Given the description of an element on the screen output the (x, y) to click on. 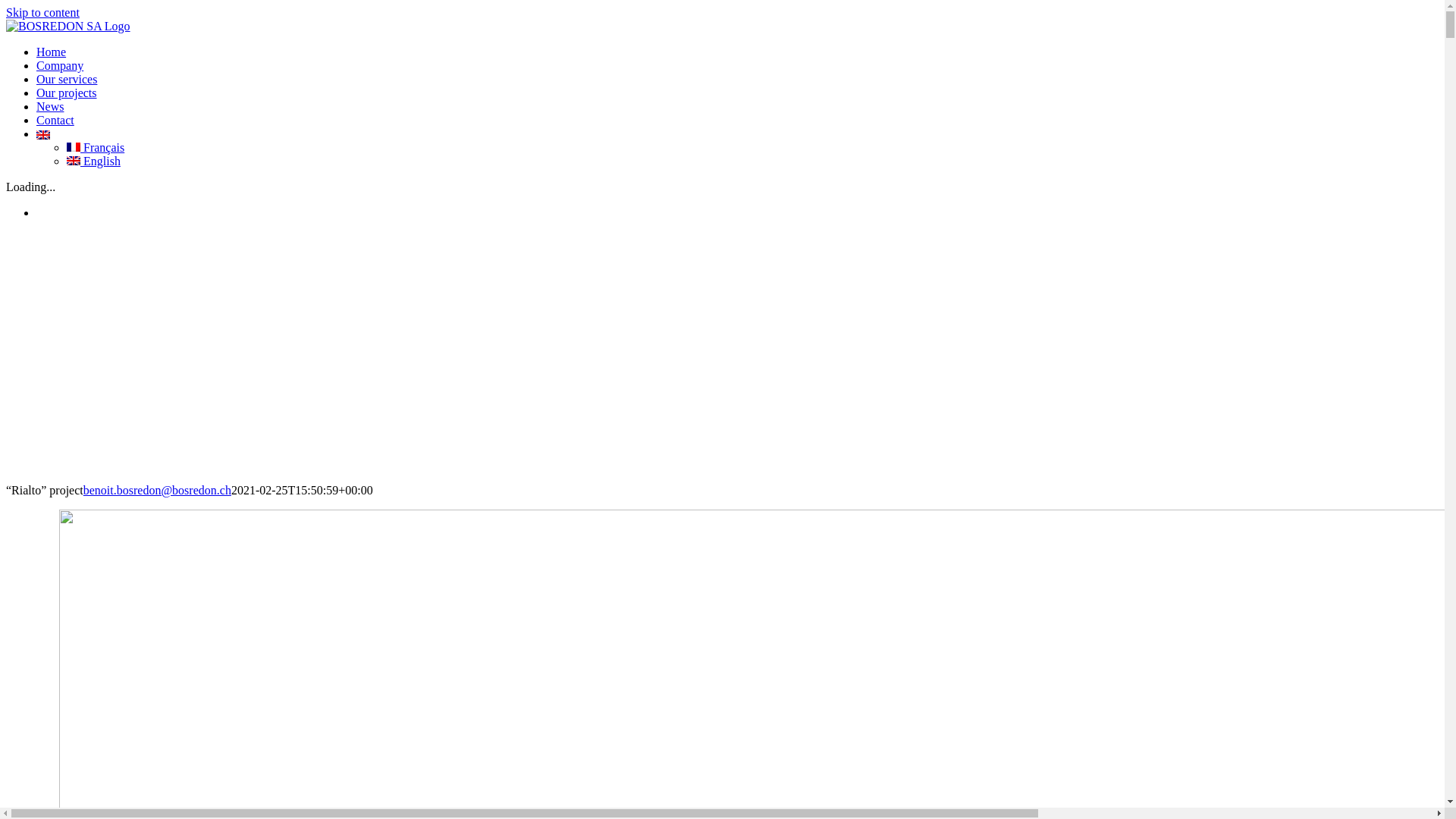
Company Element type: text (59, 65)
Contact Element type: text (55, 119)
Home Element type: text (50, 51)
Skip to content Element type: text (42, 12)
benoit.bosredon@bosredon.ch Element type: text (157, 489)
Our projects Element type: text (66, 92)
Our services Element type: text (66, 78)
News Element type: text (49, 106)
lang-selector Element type: hover (43, 133)
 English Element type: text (93, 160)
